Given the description of an element on the screen output the (x, y) to click on. 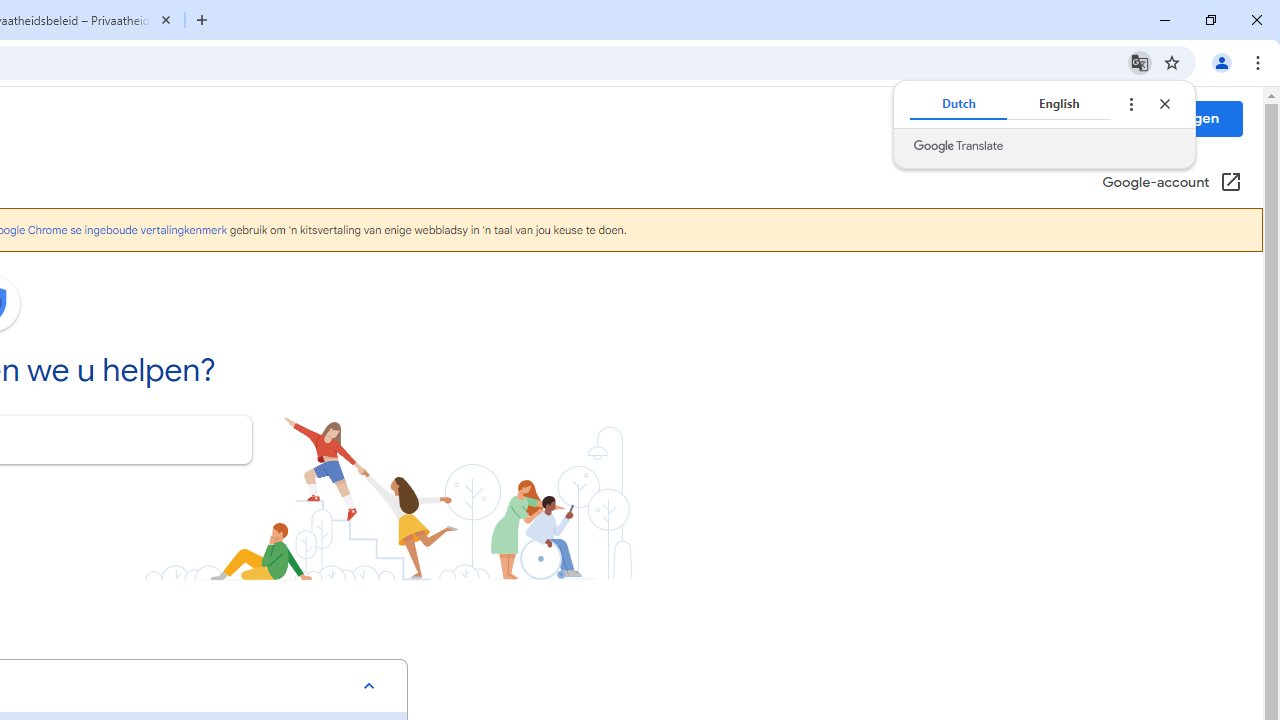
Translate this page (1139, 62)
Google-account (Openen in een nieuw venster) (1172, 183)
Google-apps (1104, 118)
Inloggen (1189, 118)
English (1059, 103)
Dutch (958, 103)
Translate options (1130, 103)
